Given the description of an element on the screen output the (x, y) to click on. 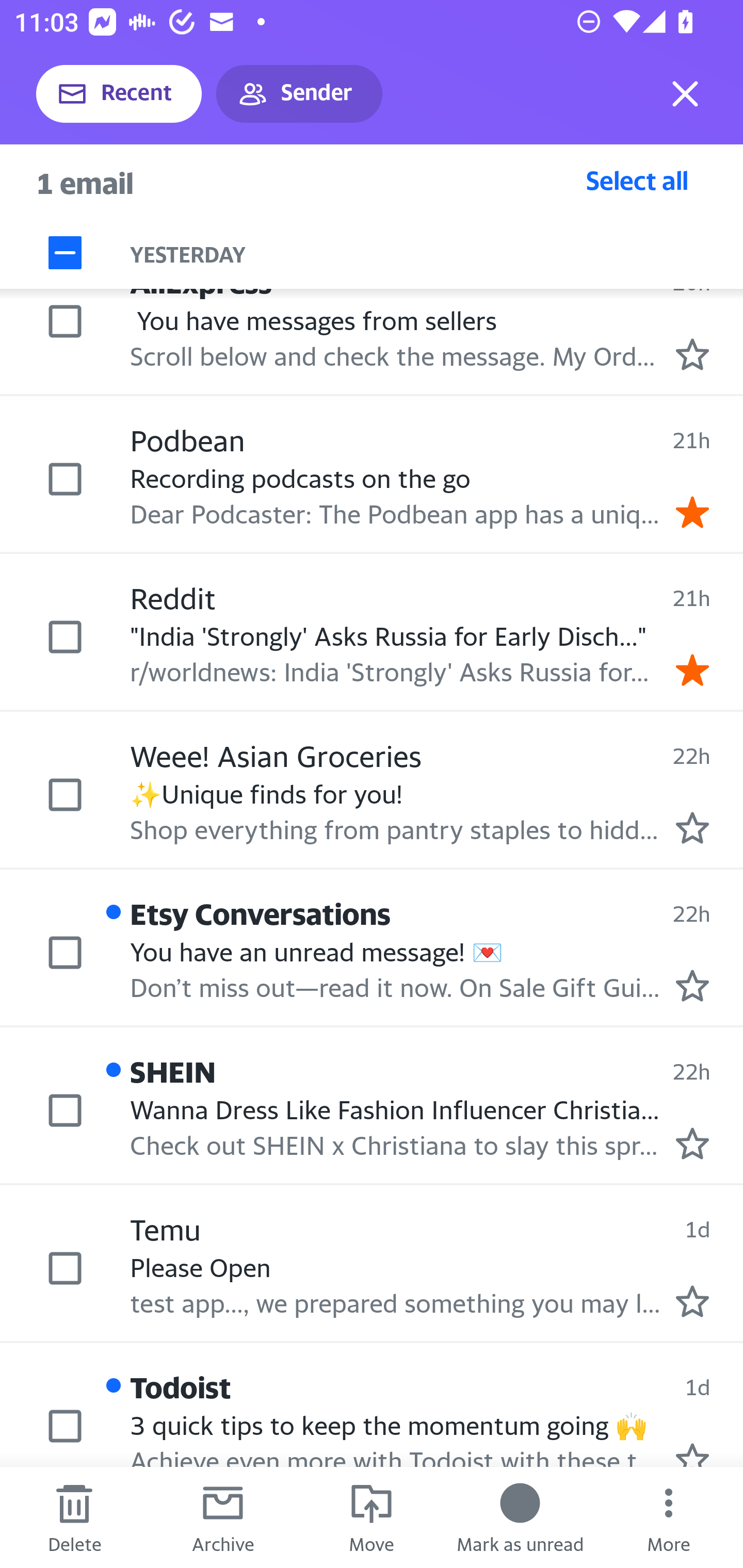
Sender (299, 93)
Exit selection mode (684, 93)
Select all (637, 180)
Mark as starred. (692, 354)
Remove star. (692, 511)
Remove star. (692, 670)
Mark as starred. (692, 827)
Mark as starred. (692, 985)
Mark as starred. (692, 1143)
Mark as starred. (692, 1300)
Delete (74, 1517)
Archive (222, 1517)
Move (371, 1517)
Mark as unread (519, 1517)
More (668, 1517)
